Given the description of an element on the screen output the (x, y) to click on. 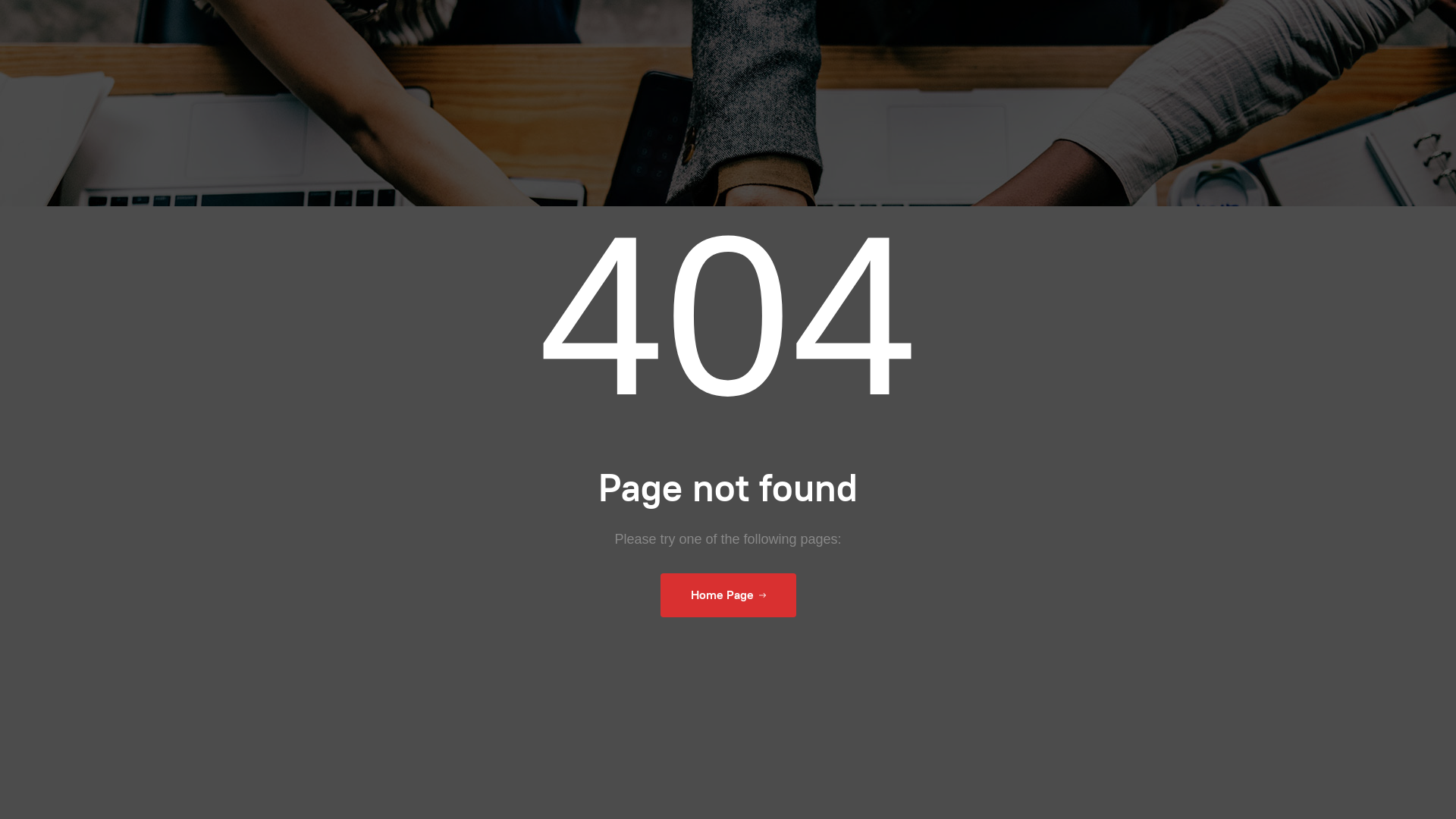
Home Page Element type: text (727, 595)
